Given the description of an element on the screen output the (x, y) to click on. 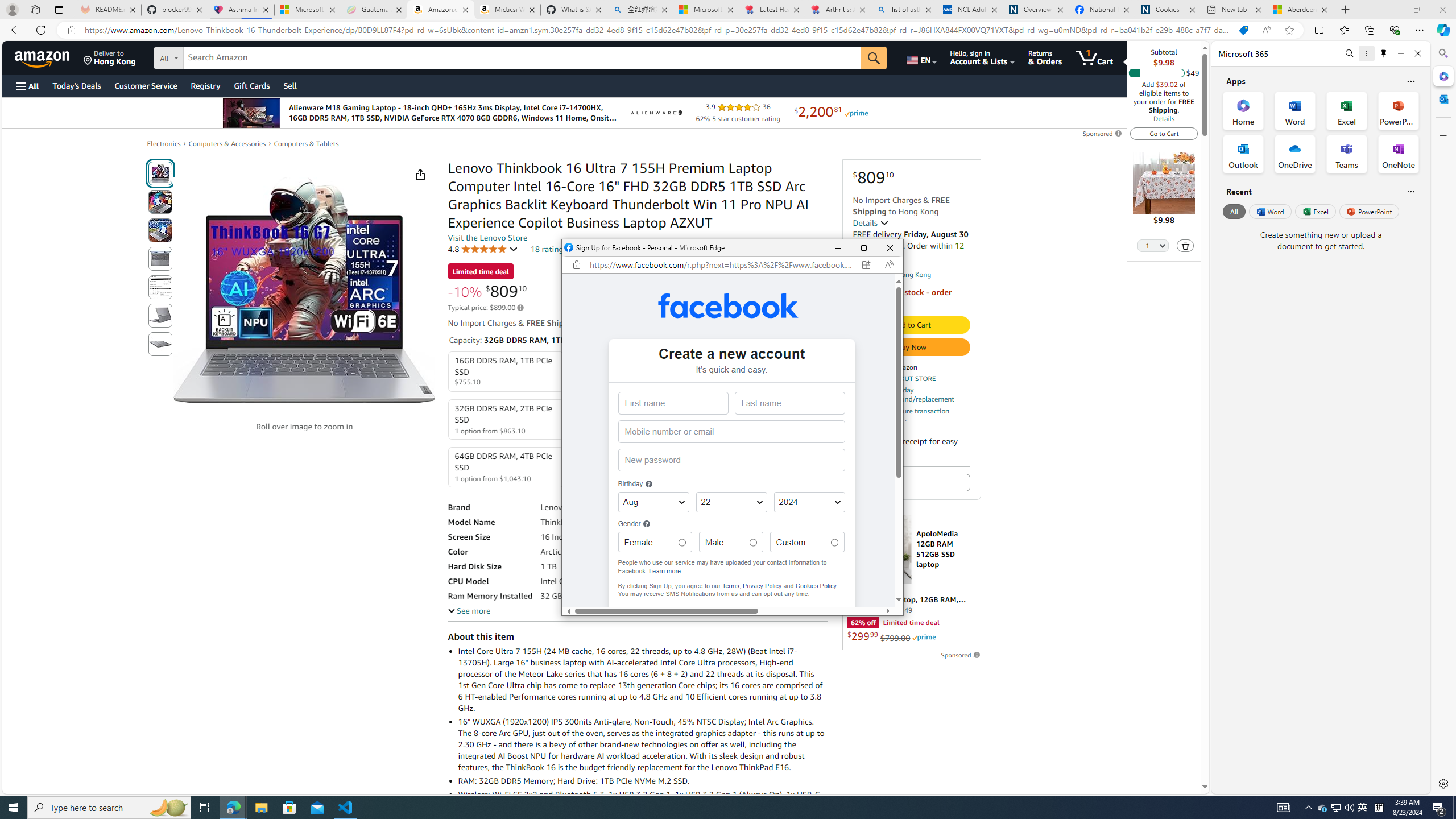
Deliver to Hong Kong (109, 57)
OneDrive Office App (1295, 154)
Male (752, 542)
4.8 4.8 out of 5 stars (1322, 807)
Computers & Accessories (482, 248)
